Given the description of an element on the screen output the (x, y) to click on. 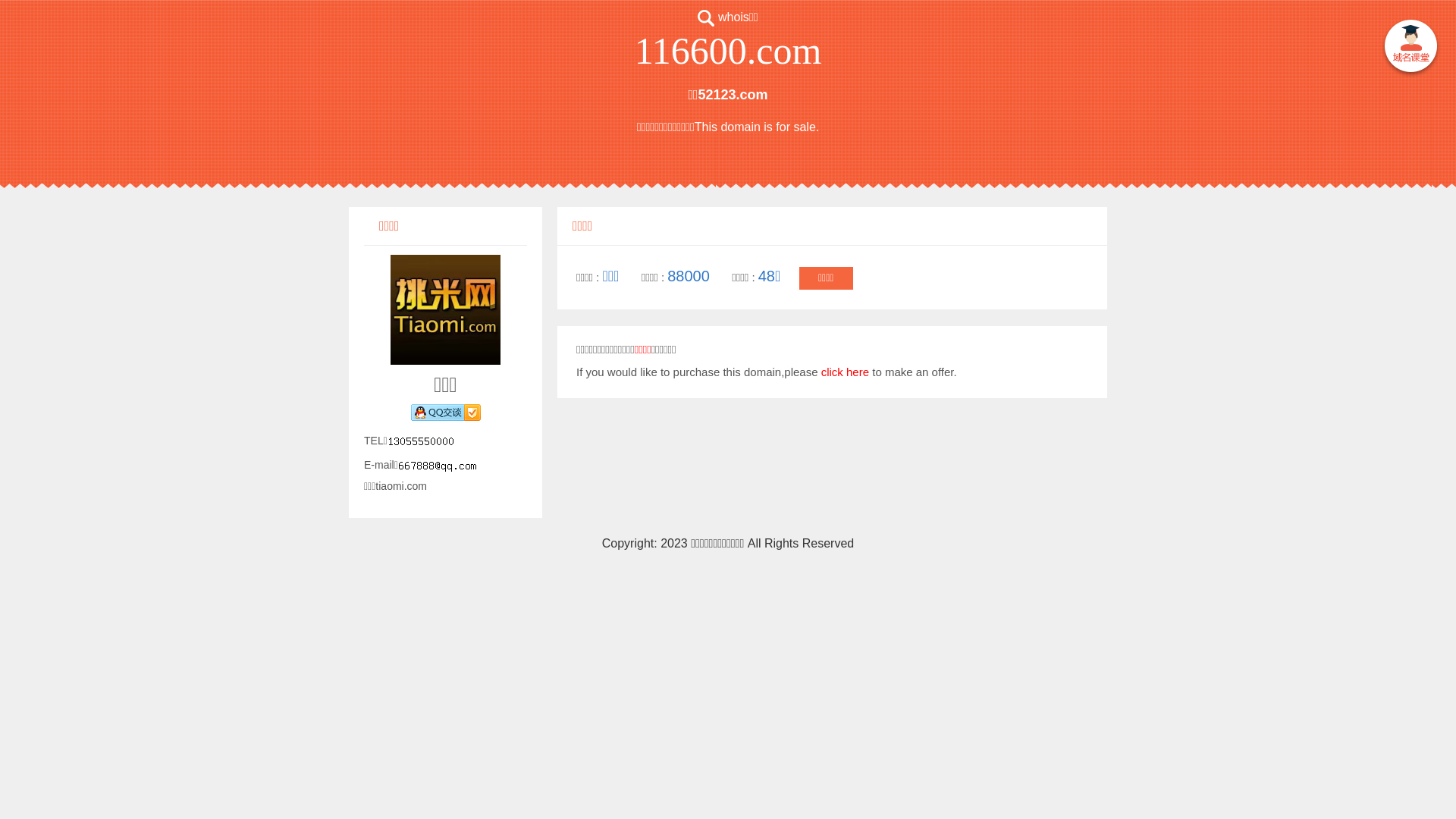
click here Element type: text (845, 371)
  Element type: text (1410, 48)
